Given the description of an element on the screen output the (x, y) to click on. 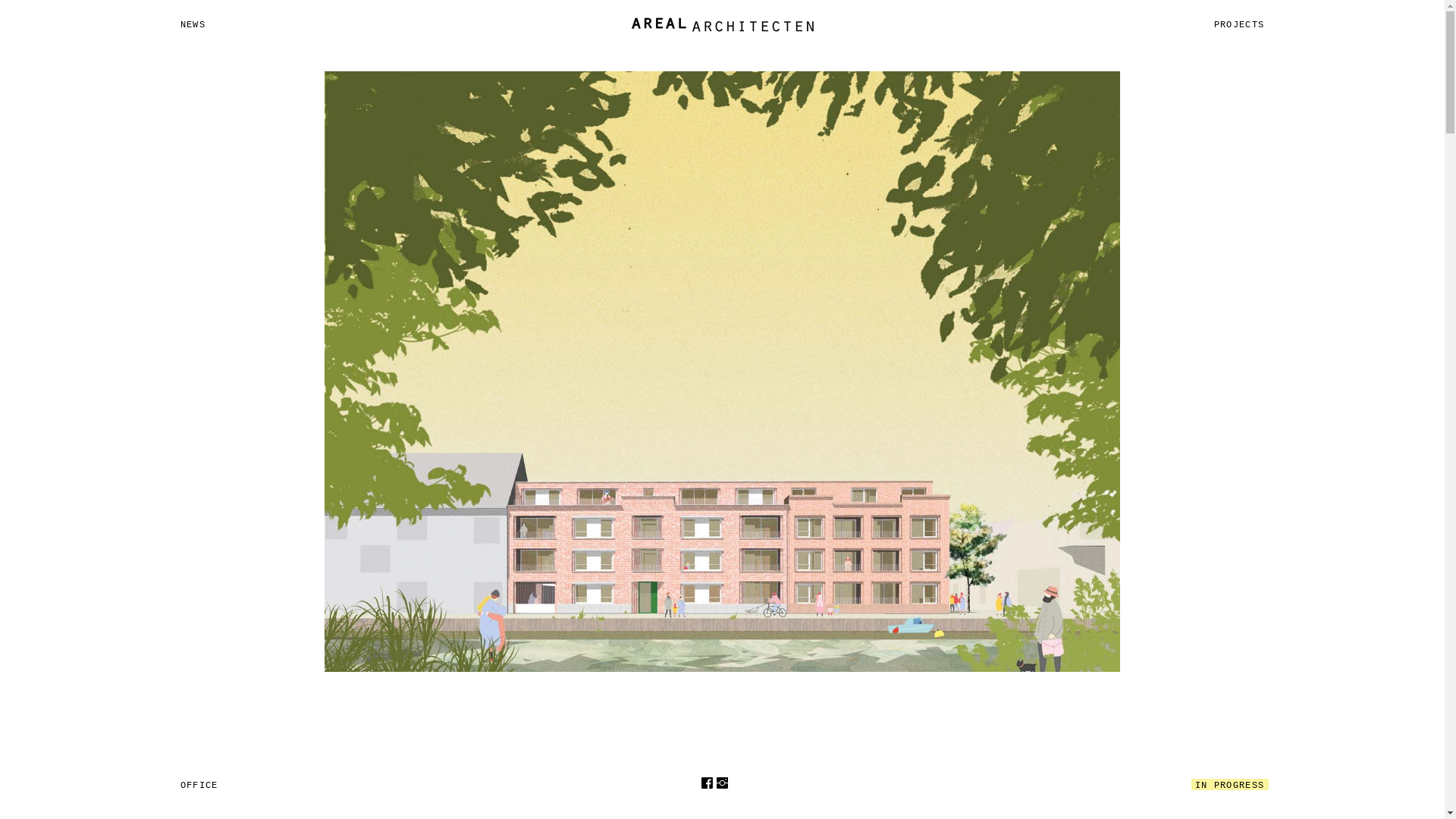
PROJECTS Element type: text (1239, 24)
nl Element type: text (737, 782)
NEWS Element type: text (191, 24)
Home Element type: hover (721, 24)
Skip to main content Element type: text (0, 0)
OFFICE Element type: text (198, 784)
IN PROGRESS Element type: text (1229, 784)
